Given the description of an element on the screen output the (x, y) to click on. 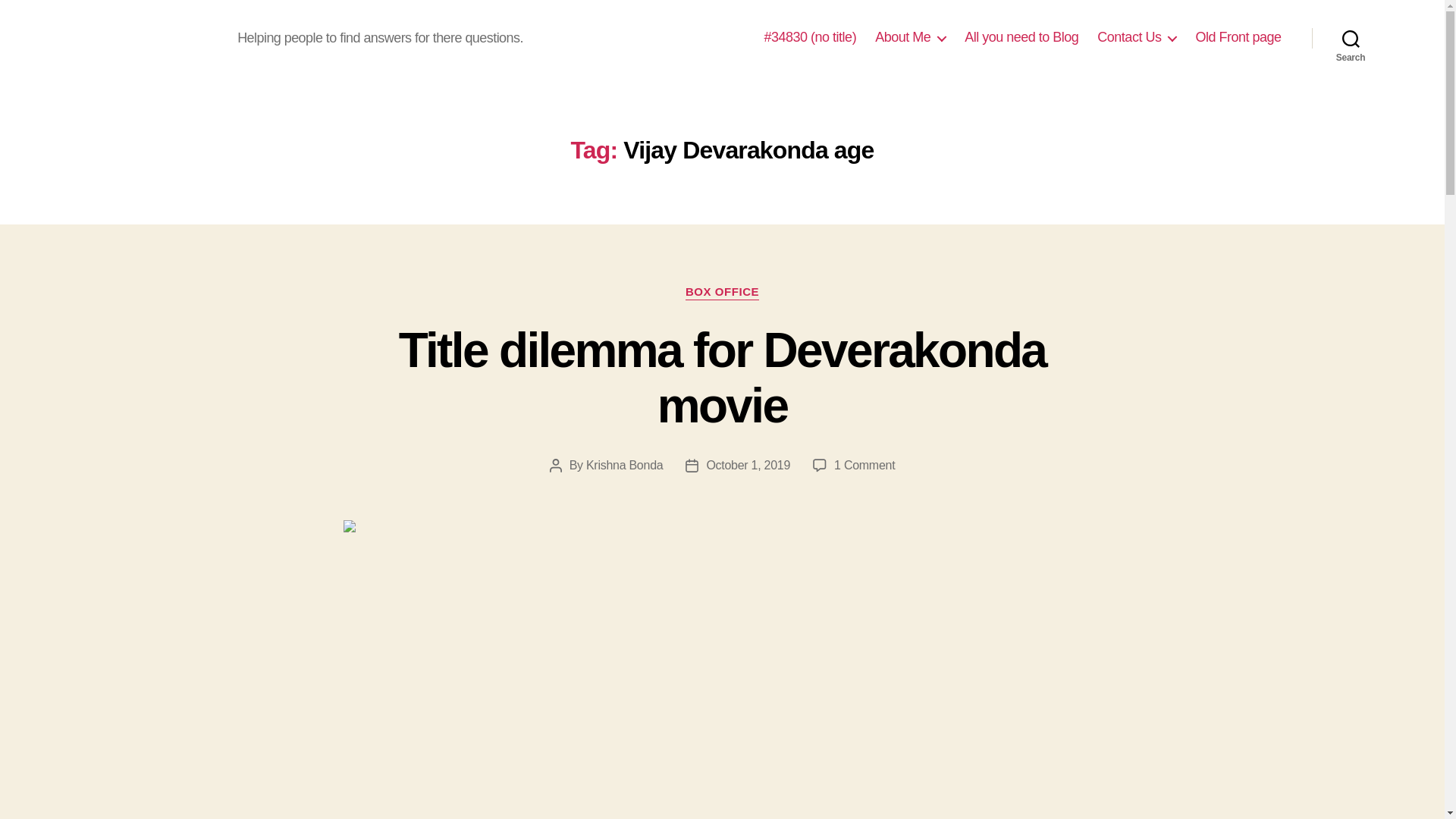
Search (1350, 37)
Title dilemma for Deverakonda movie (722, 377)
All you need to Blog (1020, 37)
October 1, 2019 (748, 464)
About Me (909, 37)
Old Front page (1238, 37)
Krishna Bonda (864, 464)
BOX OFFICE (624, 464)
Contact Us (721, 292)
